Given the description of an element on the screen output the (x, y) to click on. 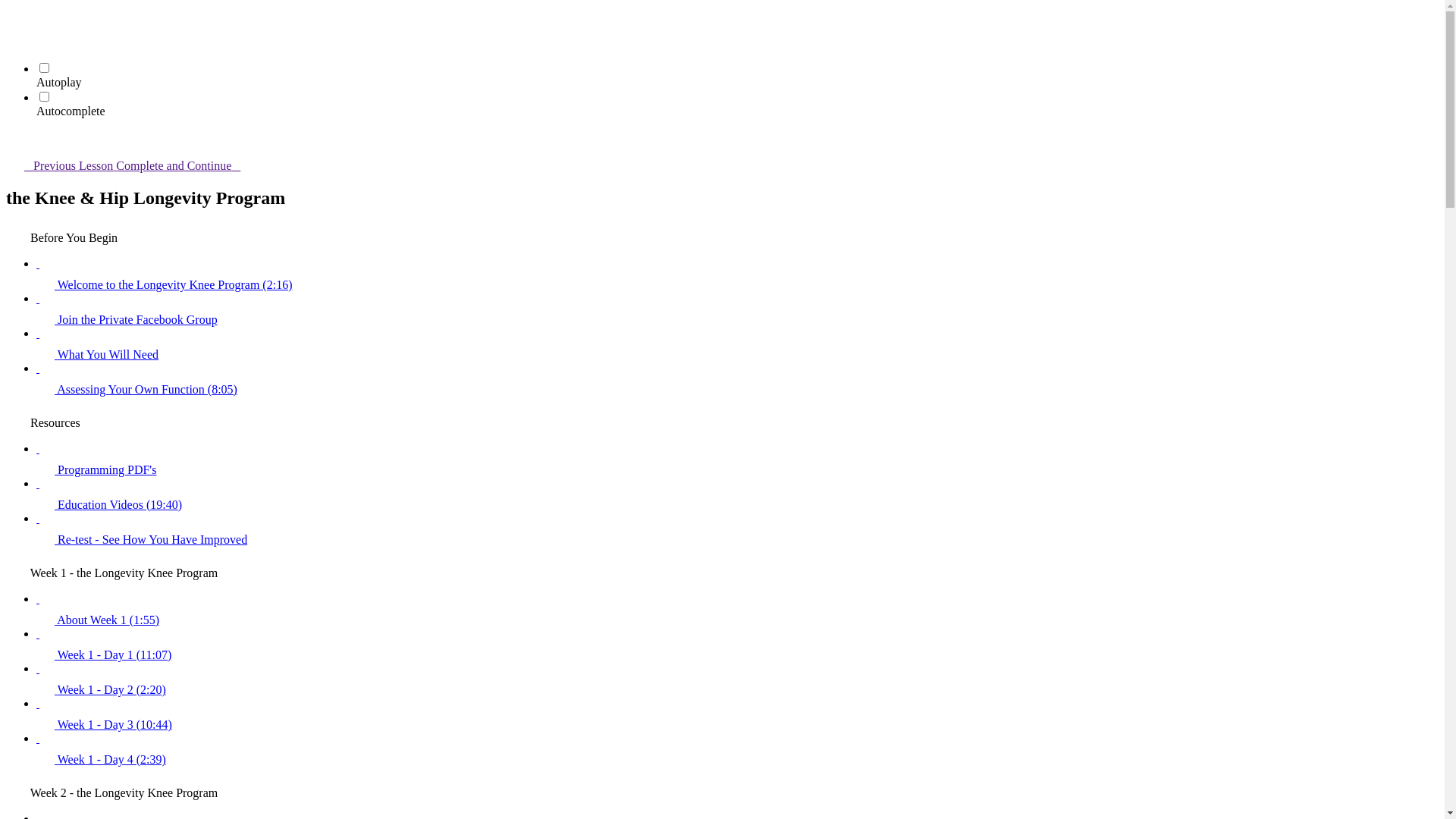
  Programming PDF's Element type: text (737, 459)
  Week 1 - Day 3 (10:44) Element type: text (737, 713)
Back to course curriculum Element type: hover (15, 15)
  What You Will Need Element type: text (737, 343)
Course Sidebar Element type: hover (15, 139)
Settings Menu Element type: hover (15, 36)
  Welcome to the Longevity Knee Program (2:16) Element type: text (737, 274)
  Re-test - See How You Have Improved Element type: text (737, 528)
  Week 1 - Day 2 (2:20) Element type: text (737, 679)
  Week 1 - Day 4 (2:39) Element type: text (737, 748)
  Previous Lesson Element type: text (61, 165)
  About Week 1 (1:55) Element type: text (737, 609)
  Assessing Your Own Function (8:05) Element type: text (737, 378)
  Week 1 - Day 1 (11:07) Element type: text (737, 644)
  Join the Private Facebook Group Element type: text (737, 308)
Complete and Continue   Element type: text (187, 165)
  Education Videos (19:40) Element type: text (737, 493)
